Given the description of an element on the screen output the (x, y) to click on. 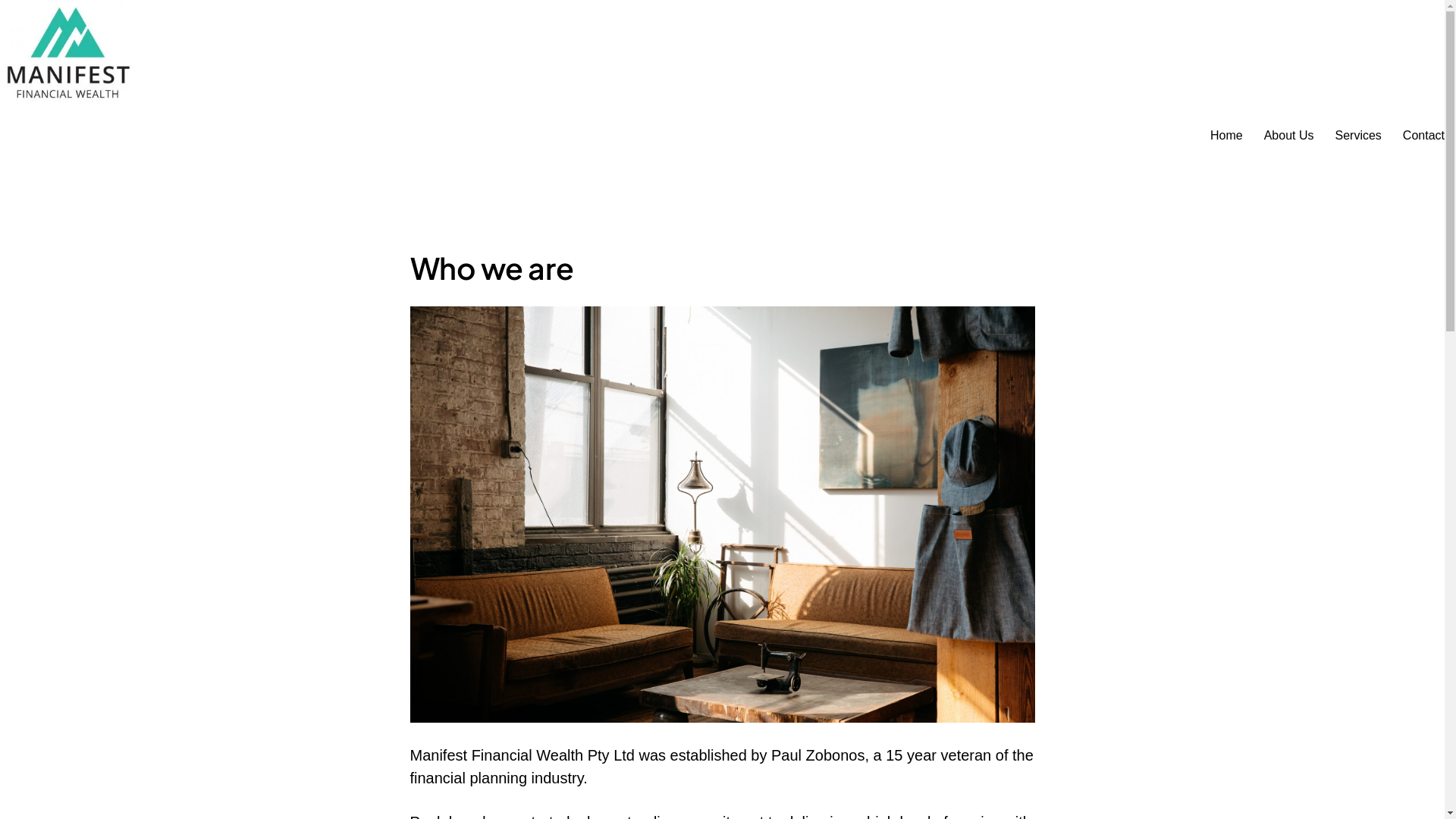
About Us Element type: text (1289, 135)
Services Element type: text (1357, 135)
Contact Element type: text (1423, 135)
Home Element type: text (1226, 135)
